Given the description of an element on the screen output the (x, y) to click on. 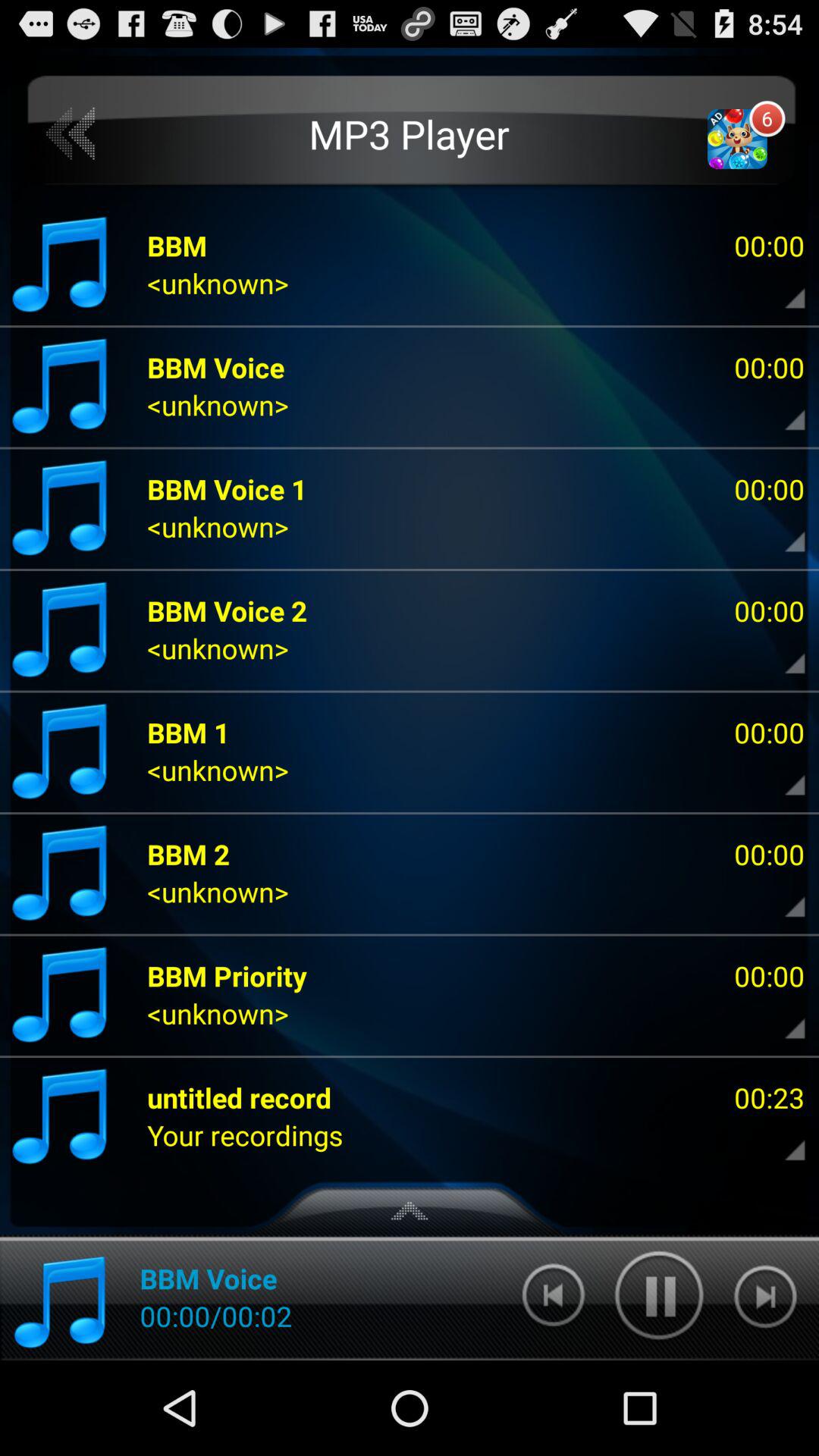
tap the icon above bbm voice 1 item (408, 133)
